Given the description of an element on the screen output the (x, y) to click on. 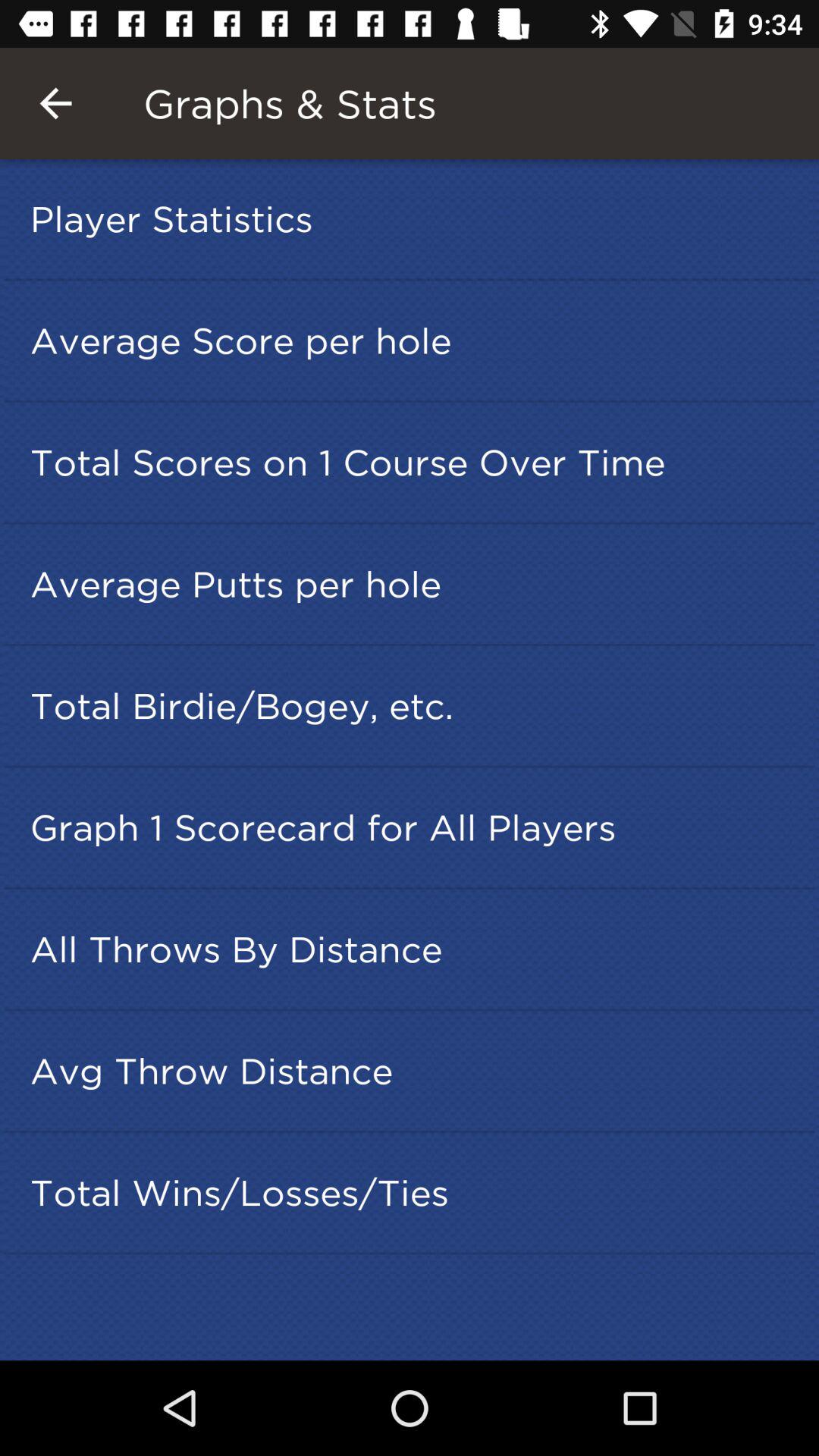
click total birdie bogey (414, 705)
